Given the description of an element on the screen output the (x, y) to click on. 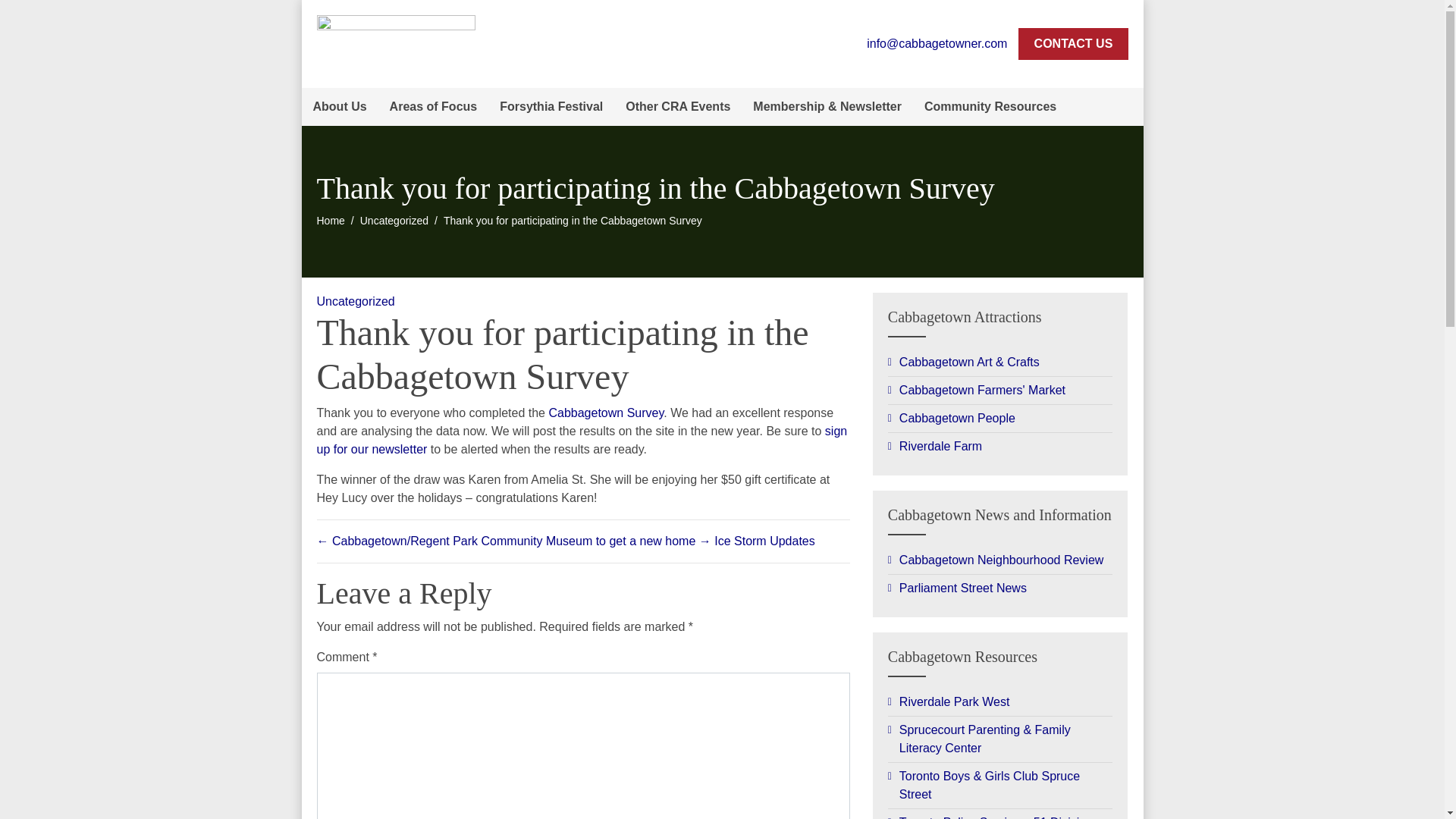
Areas of Focus (433, 106)
Community Resources (989, 106)
Have Your Say! Complete The Cabbagetown Survey (605, 412)
Forsythia Festival (550, 106)
Uncategorized (355, 300)
About Us (339, 106)
Search (1123, 106)
